Given the description of an element on the screen output the (x, y) to click on. 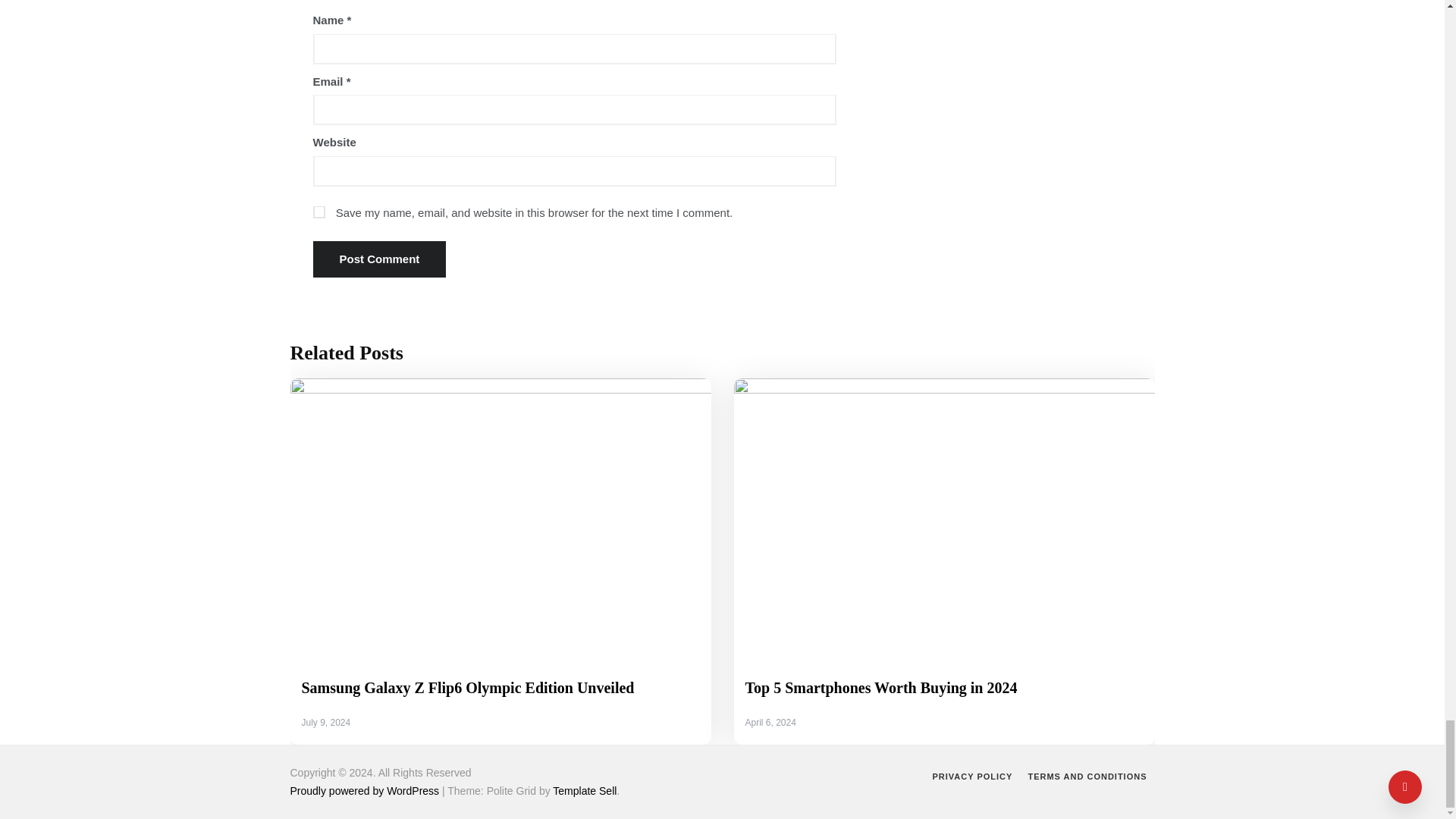
Samsung Galaxy Z Flip6 Olympic Edition Unveiled (467, 687)
Post Comment (379, 258)
Post Comment (379, 258)
yes (318, 212)
